Given the description of an element on the screen output the (x, y) to click on. 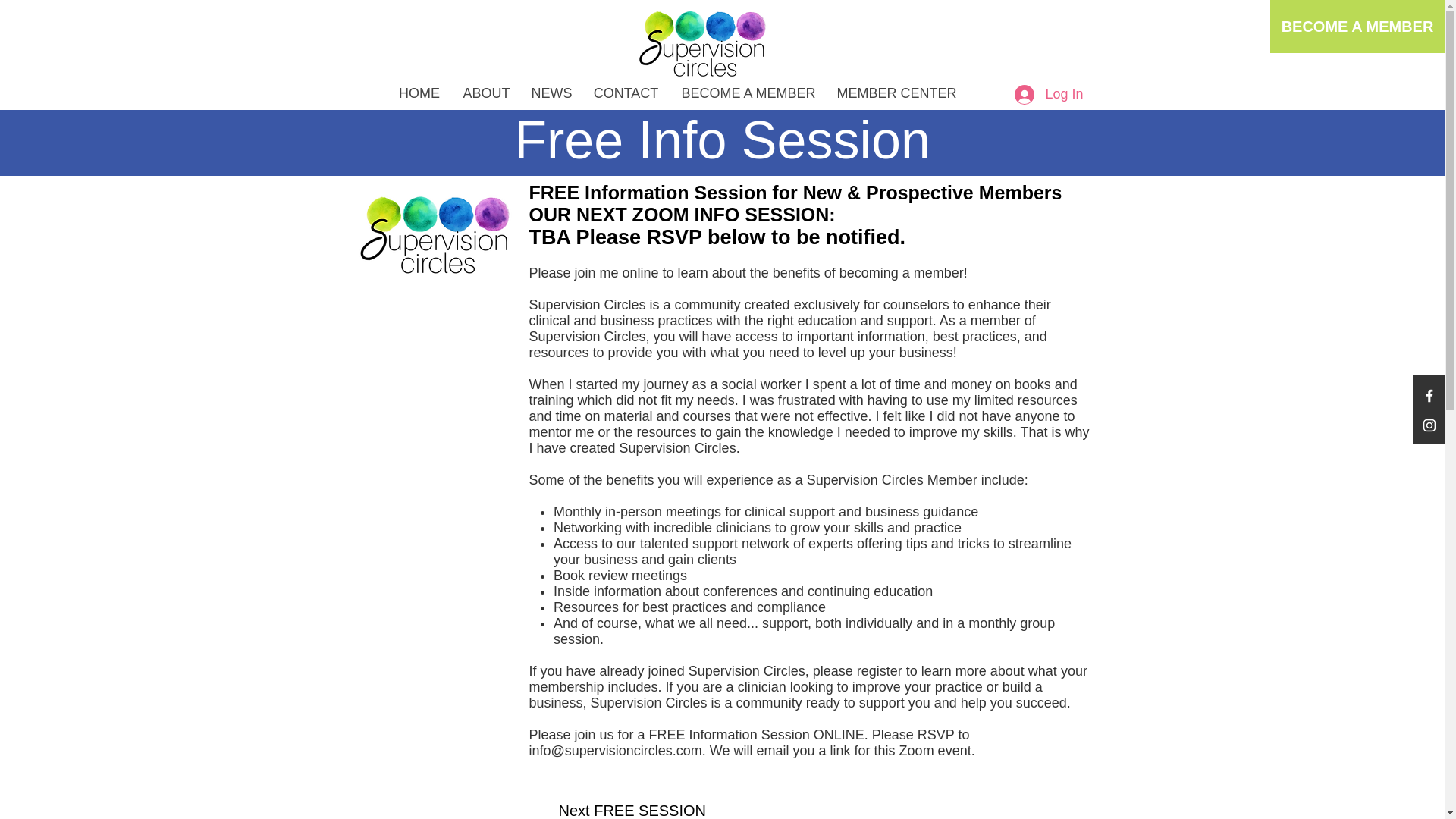
CONTACT (625, 93)
Log In (1048, 94)
ABOUT (485, 93)
BECOME A MEMBER (747, 93)
HOME (419, 93)
